Given the description of an element on the screen output the (x, y) to click on. 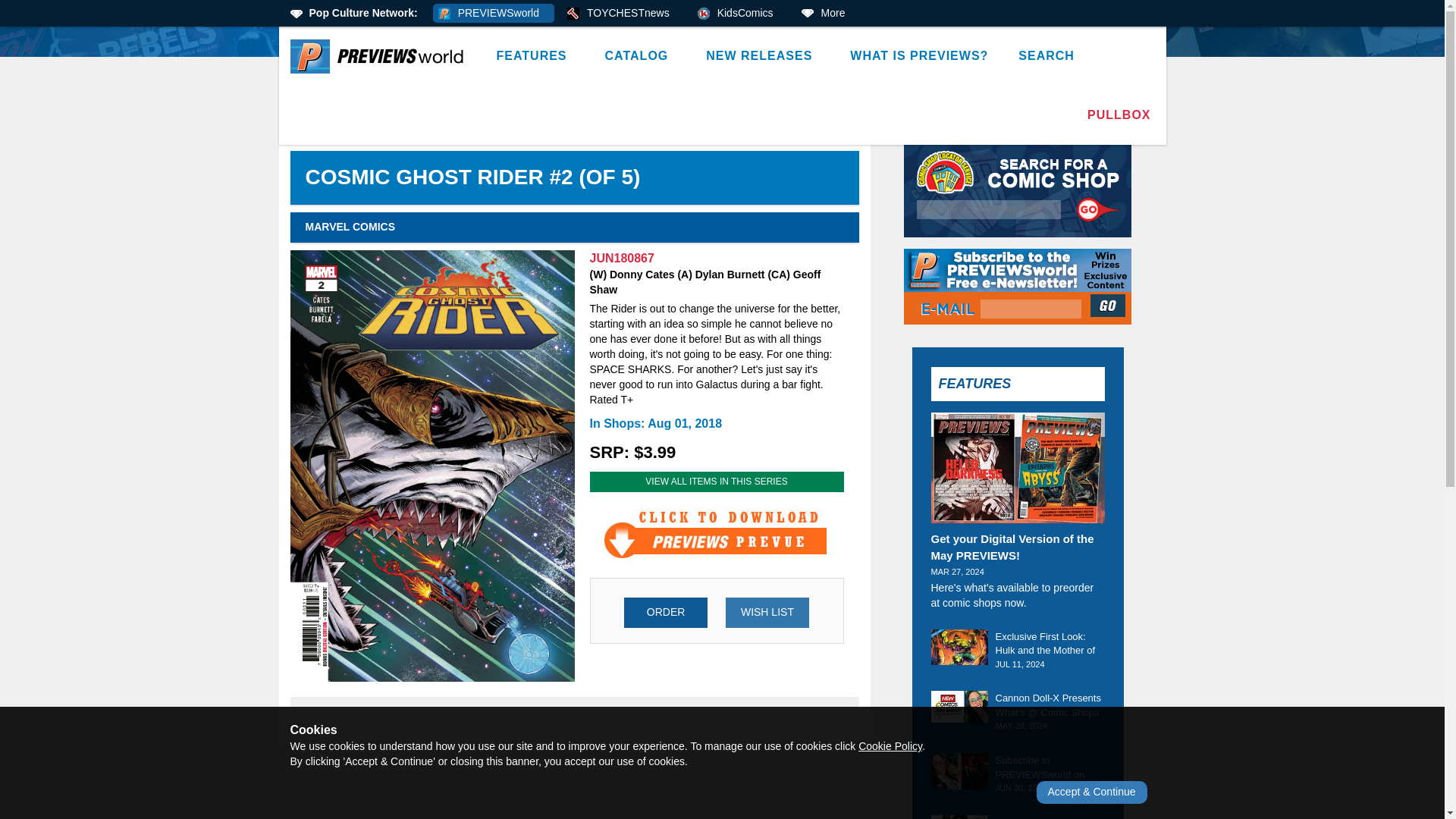
Enter ZIP or CAN Postal Code (989, 209)
CATALOG (640, 55)
Click to Download PREVIEWS PREVUE (715, 534)
KidsComics (741, 13)
Email Address Input for Newsletter Signup (1030, 308)
TOYCHESTnews (623, 13)
More (828, 13)
Join Our NewsLetter (1109, 305)
PREVIEWSworld (493, 13)
FEATURES (534, 55)
